Given the description of an element on the screen output the (x, y) to click on. 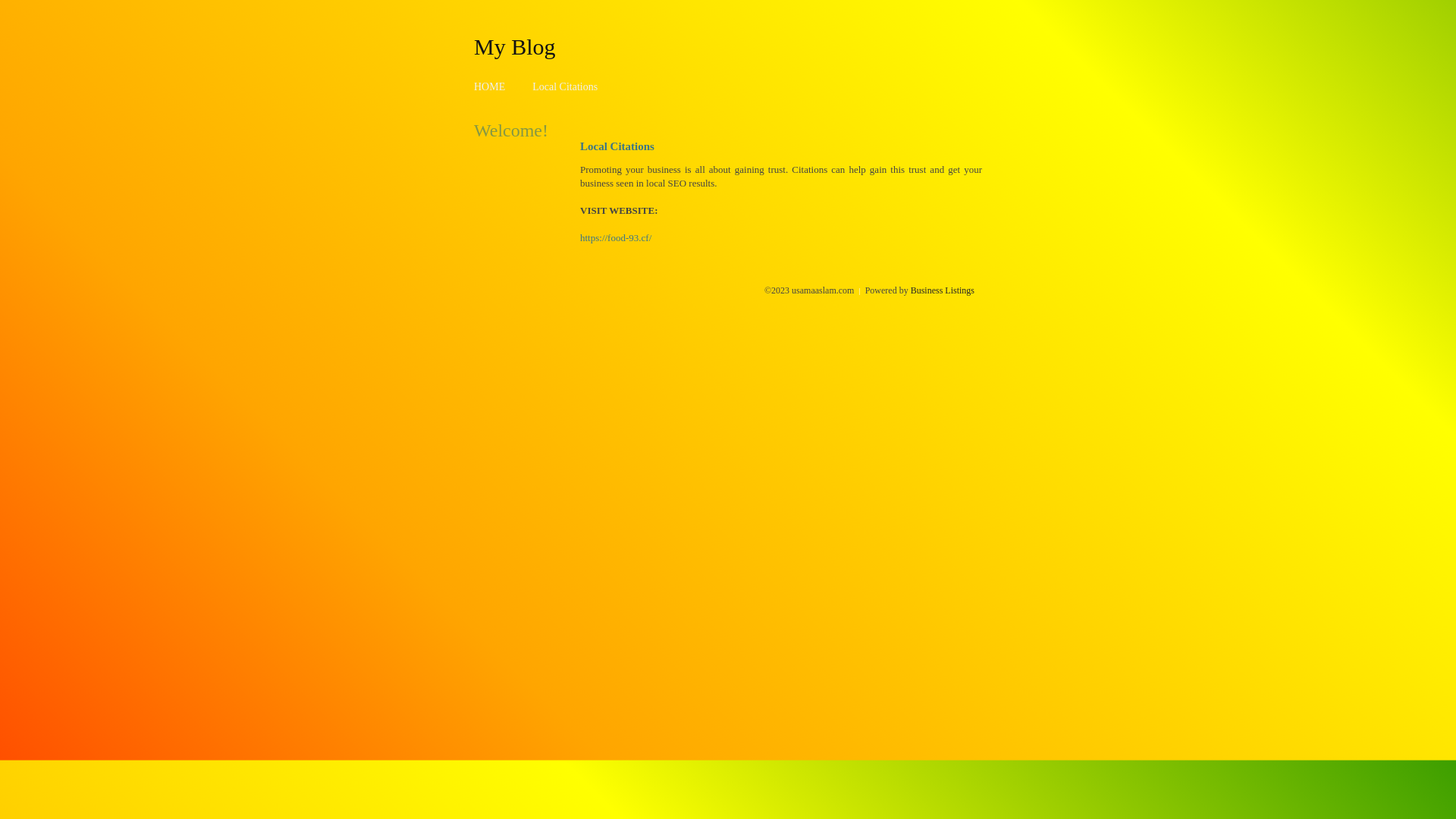
Local Citations Element type: text (564, 86)
https://food-93.cf/ Element type: text (615, 237)
My Blog Element type: text (514, 46)
Business Listings Element type: text (942, 290)
HOME Element type: text (489, 86)
